Given the description of an element on the screen output the (x, y) to click on. 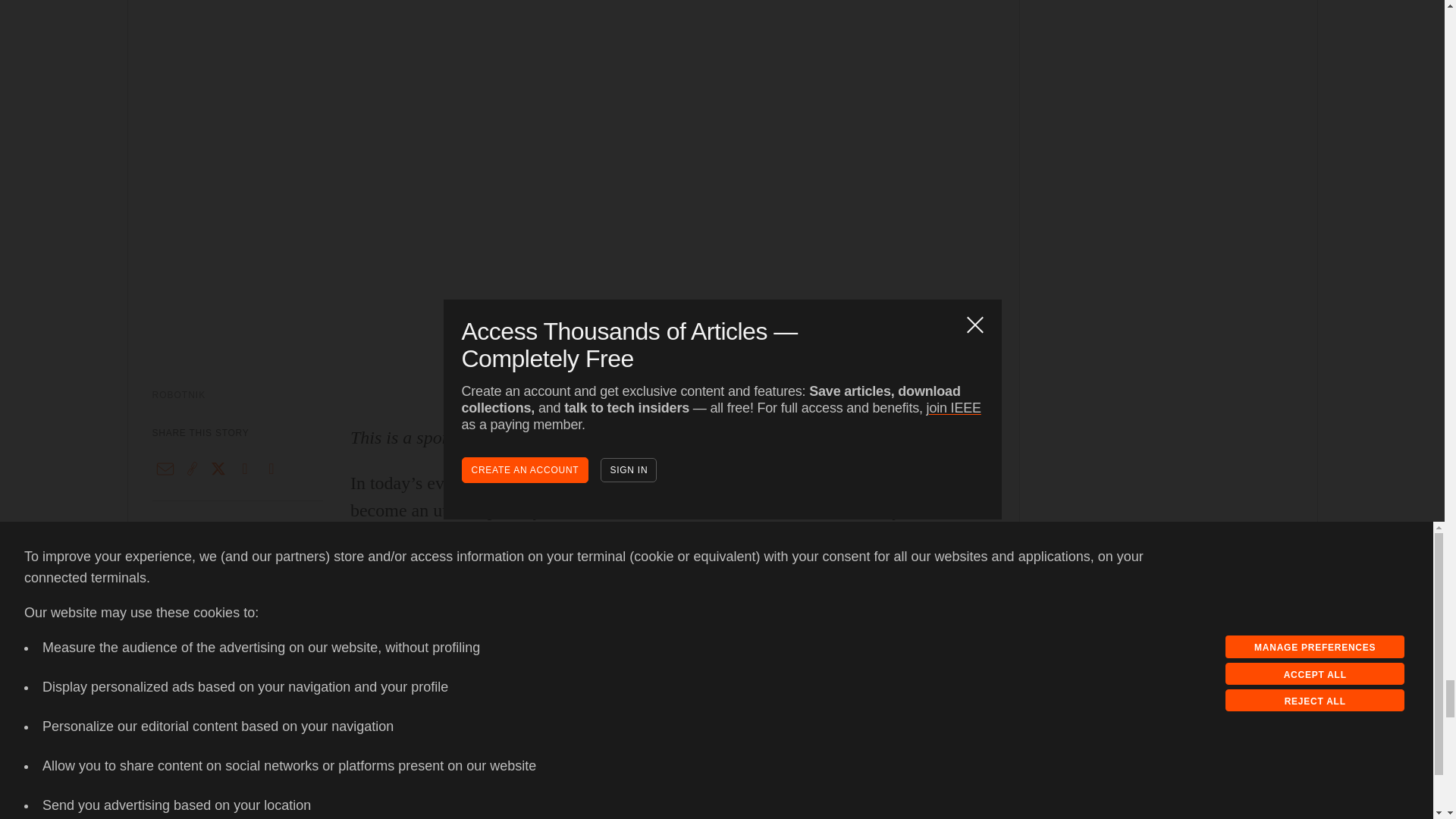
Copy this link to clipboard (192, 468)
